Given the description of an element on the screen output the (x, y) to click on. 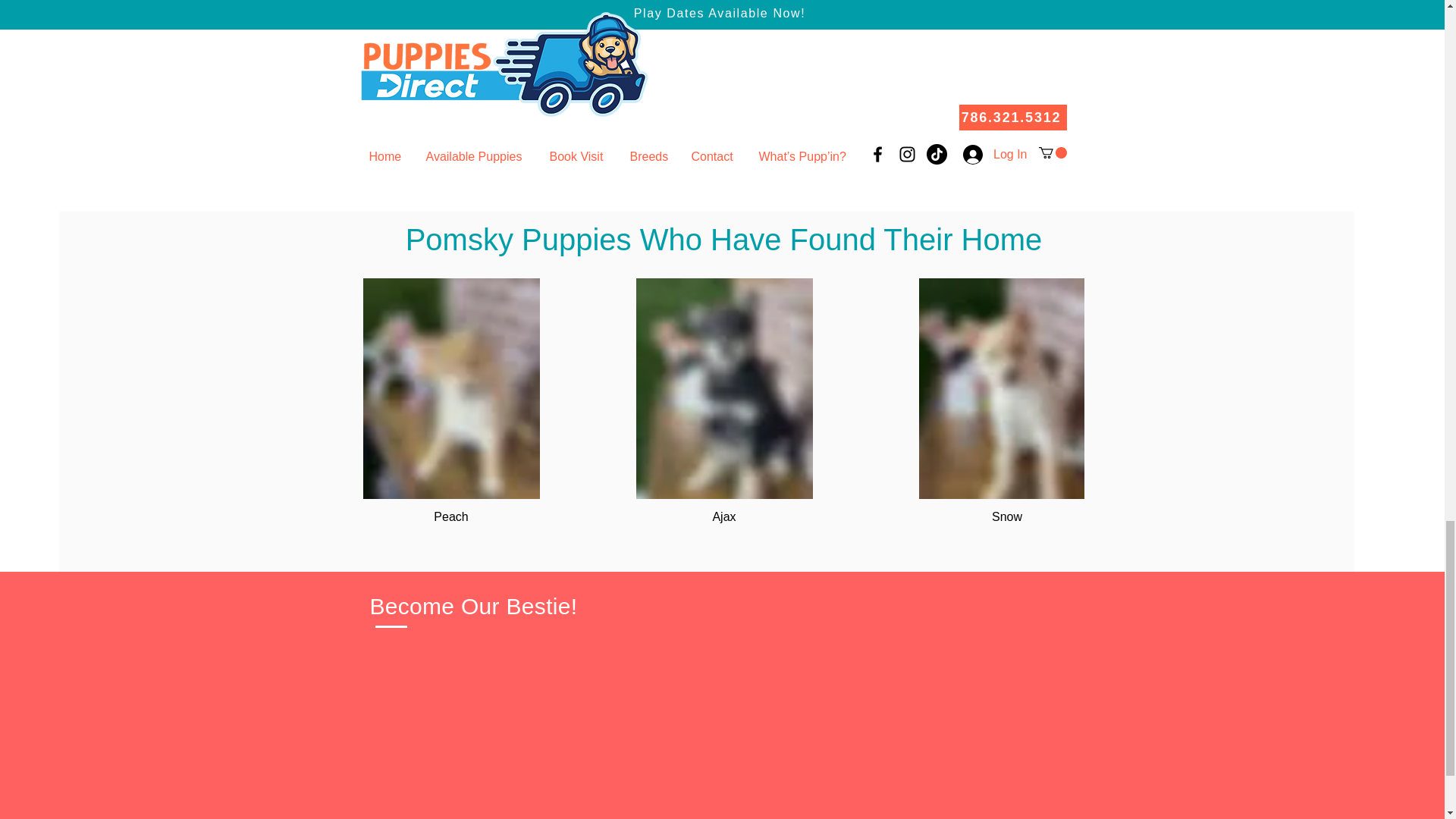
Send (669, 106)
